Given the description of an element on the screen output the (x, y) to click on. 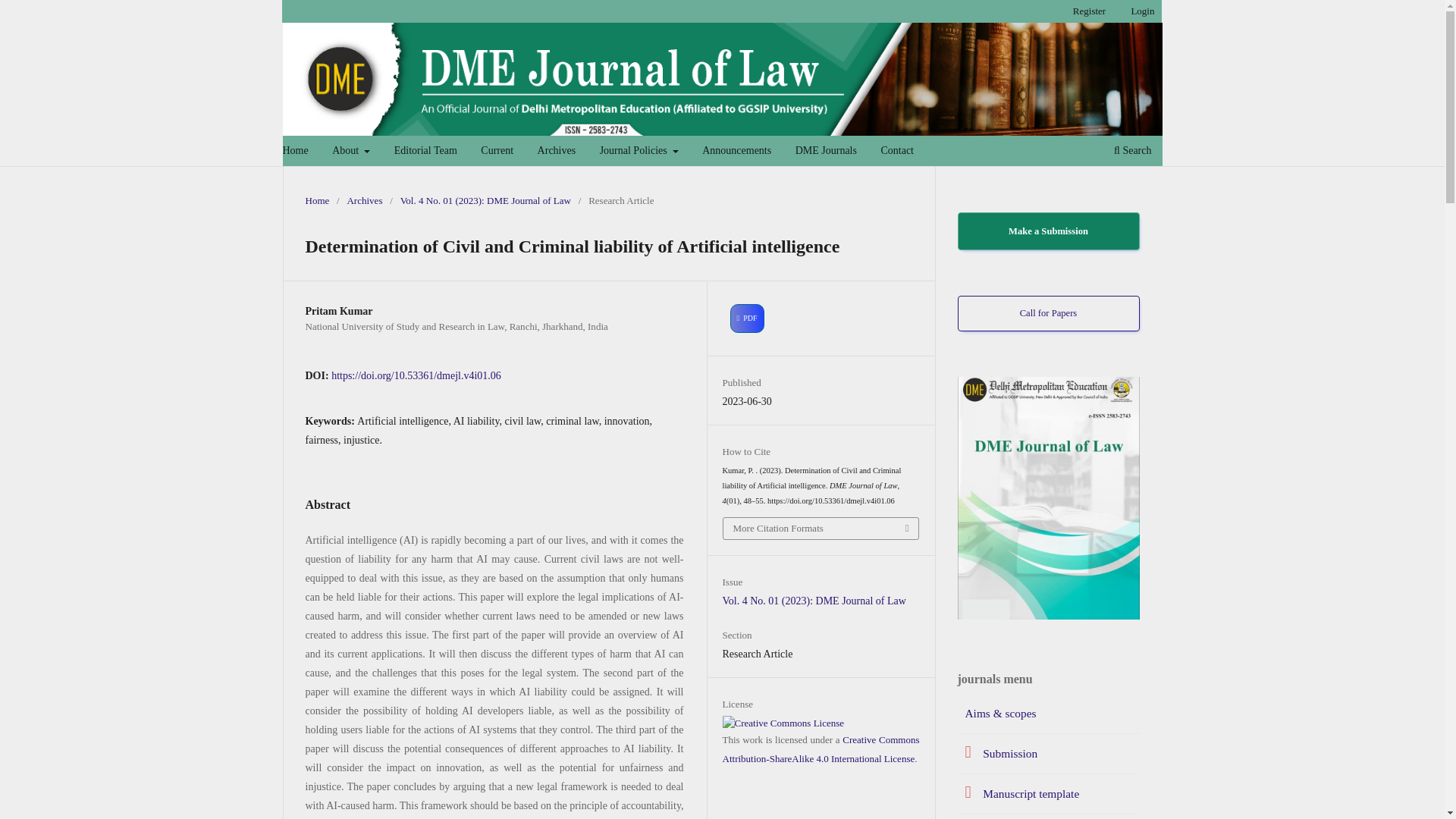
More Citation Formats (820, 527)
Home (316, 200)
Register (1089, 11)
Contact (896, 152)
Announcements (736, 152)
Archives (556, 152)
Current (497, 152)
PDF (747, 317)
DME Journals (825, 152)
Search (1132, 152)
